Given the description of an element on the screen output the (x, y) to click on. 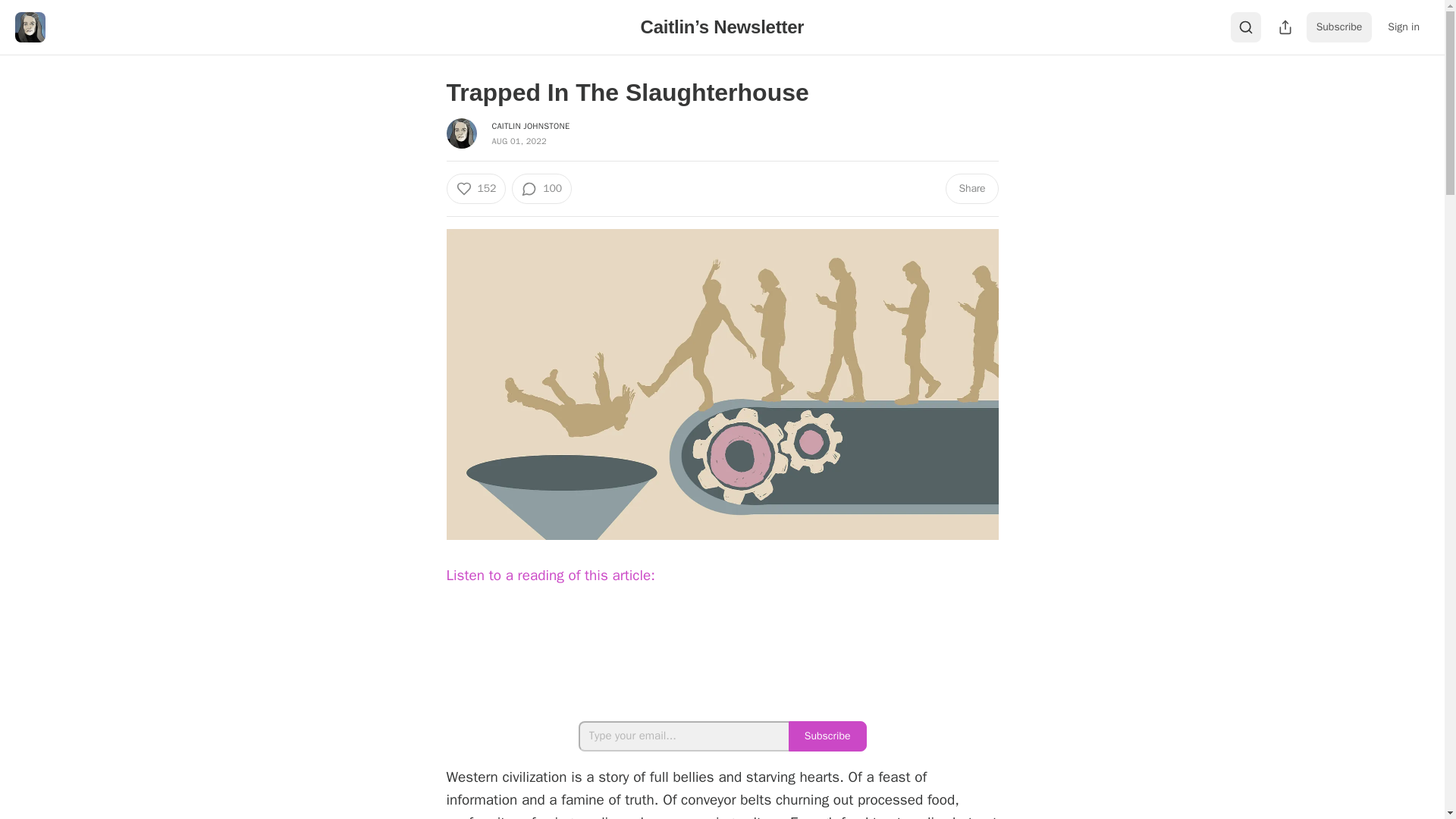
Sign in (1403, 27)
Subscribe (1339, 27)
100 (542, 188)
Share (970, 188)
Subscribe (827, 736)
152 (475, 188)
CAITLIN JOHNSTONE (530, 125)
Listen to a reading of this article: (549, 574)
